Given the description of an element on the screen output the (x, y) to click on. 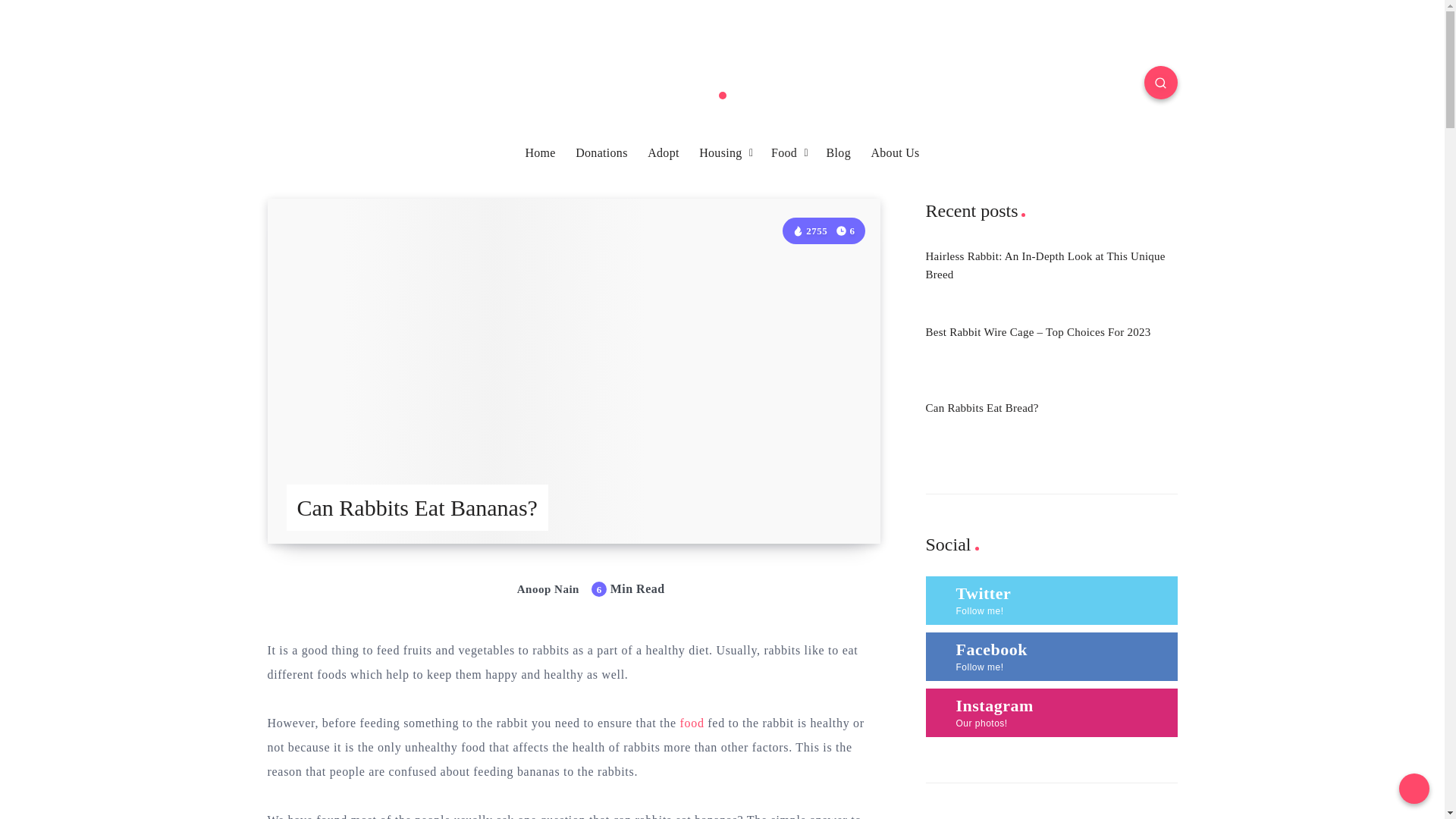
Blog (838, 152)
Housing (719, 152)
Food (783, 152)
About Us (894, 152)
6 Min Read (845, 230)
Home (539, 152)
Donations (601, 152)
Author: Anoop Nain (531, 589)
Adopt (663, 152)
Anoop Nain (531, 589)
2755 Views (809, 230)
food (691, 721)
